Given the description of an element on the screen output the (x, y) to click on. 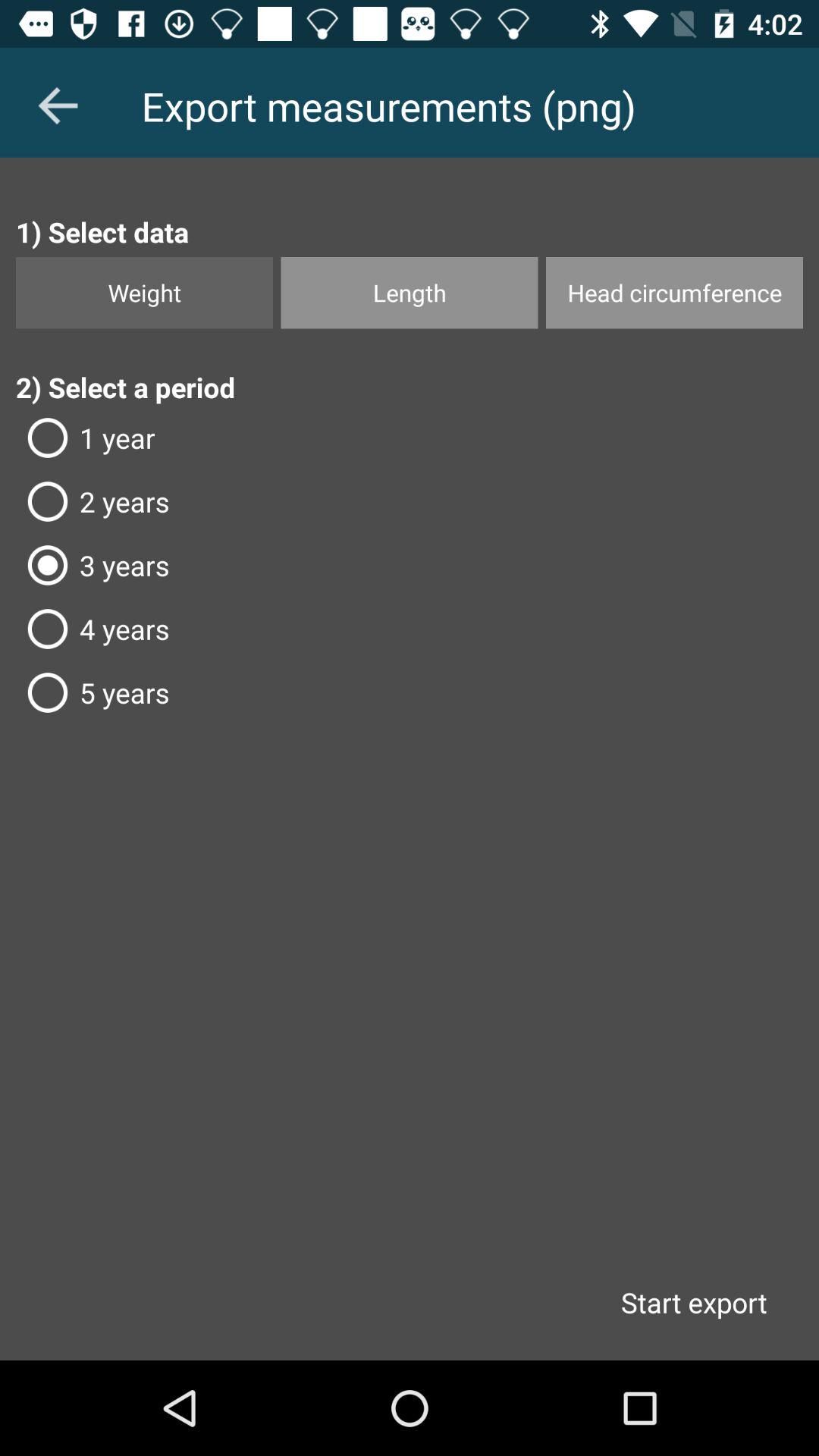
choose start export item (694, 1302)
